Given the description of an element on the screen output the (x, y) to click on. 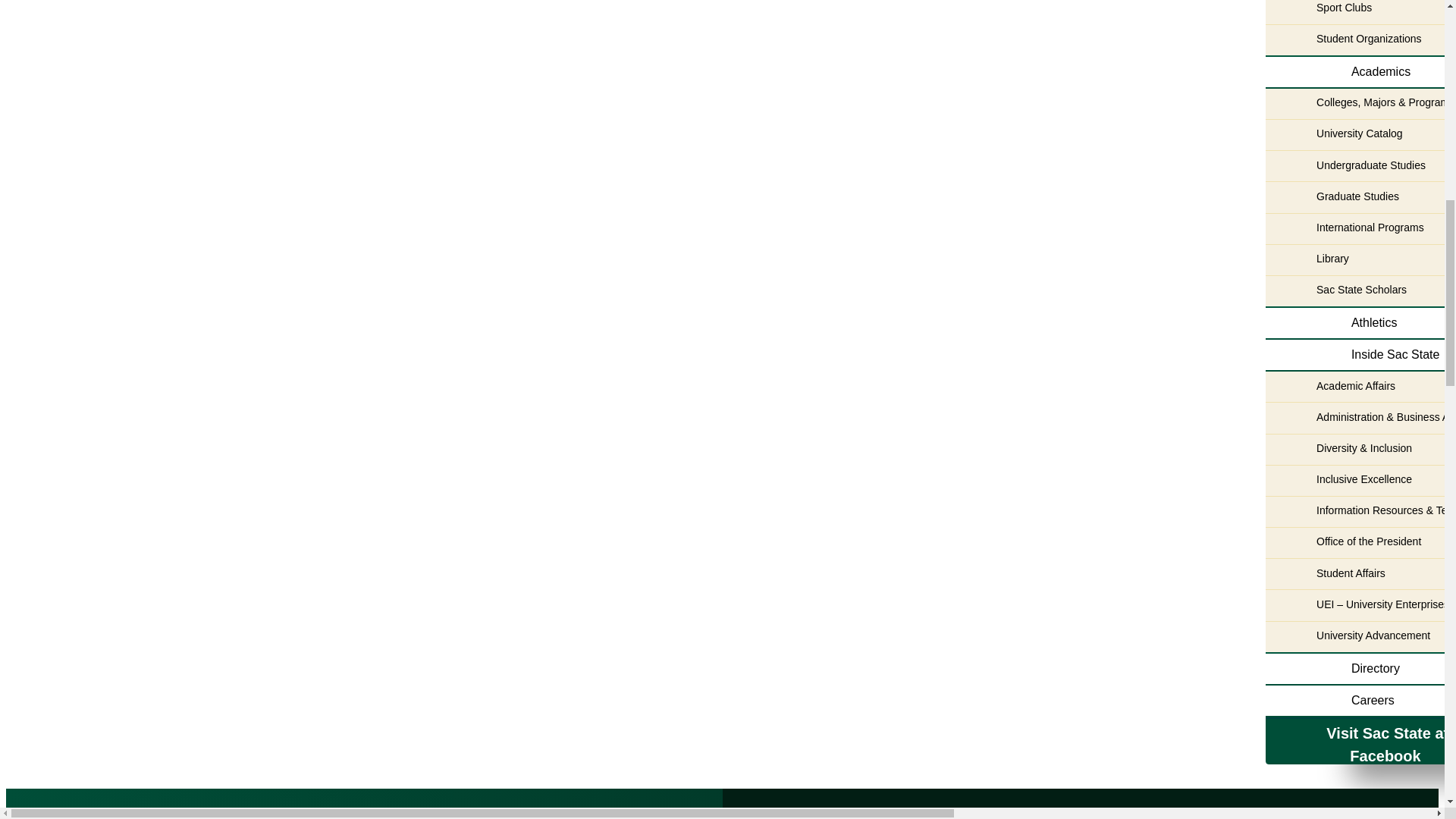
Inside Sac State (1360, 355)
Graduate Studies (1360, 196)
Sac State Scholars (1360, 291)
Student Organizations (1360, 40)
University Catalog (1360, 134)
Athletics (1360, 323)
Sport Clubs (1360, 11)
Library (1360, 259)
Academics (1360, 72)
Sac State Facebook (1382, 744)
